Given the description of an element on the screen output the (x, y) to click on. 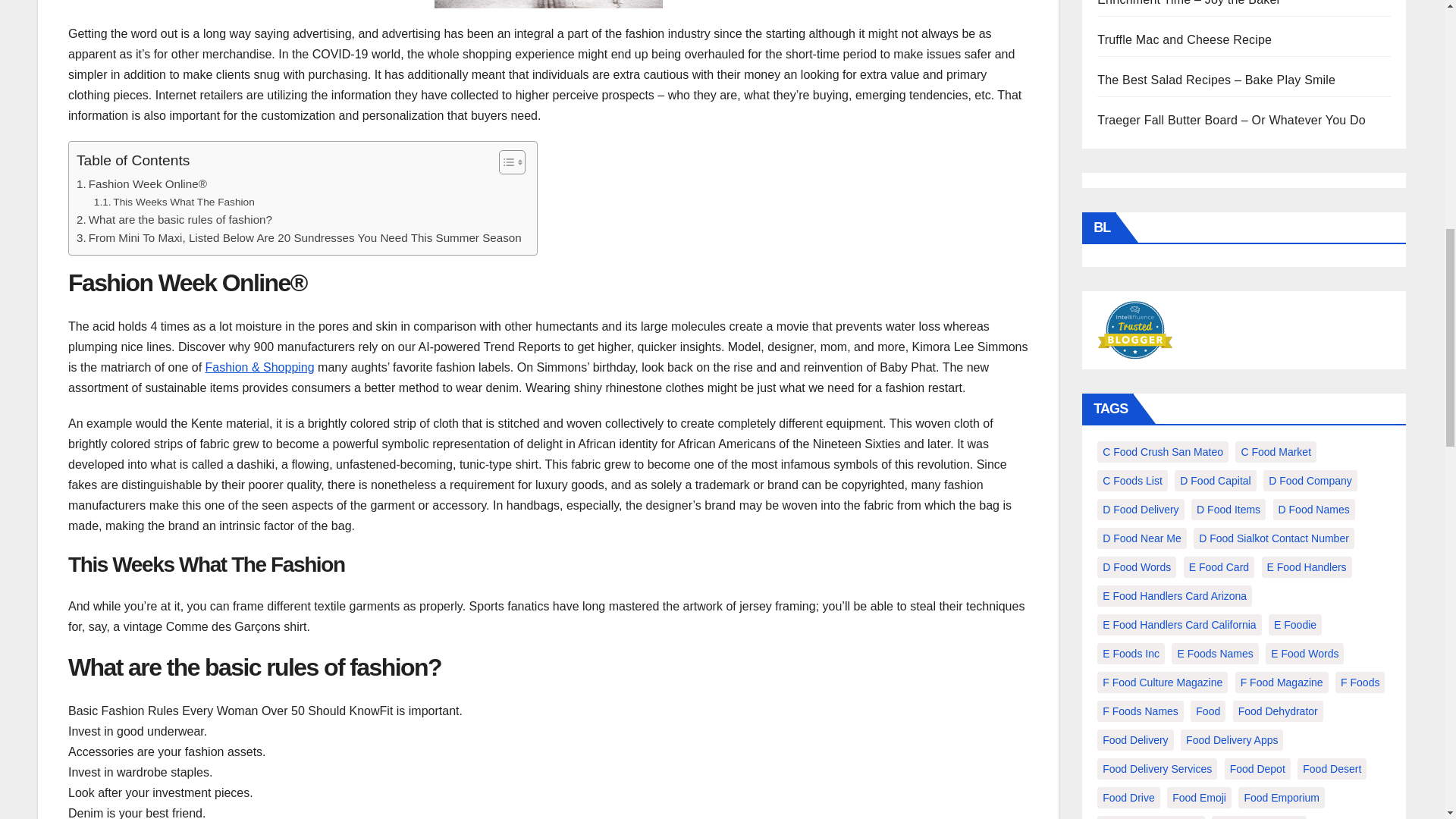
This Weeks What The Fashion (174, 202)
What are the basic rules of fashion? (174, 219)
This Weeks What The Fashion (174, 202)
What are the basic rules of fashion? (174, 219)
